Given the description of an element on the screen output the (x, y) to click on. 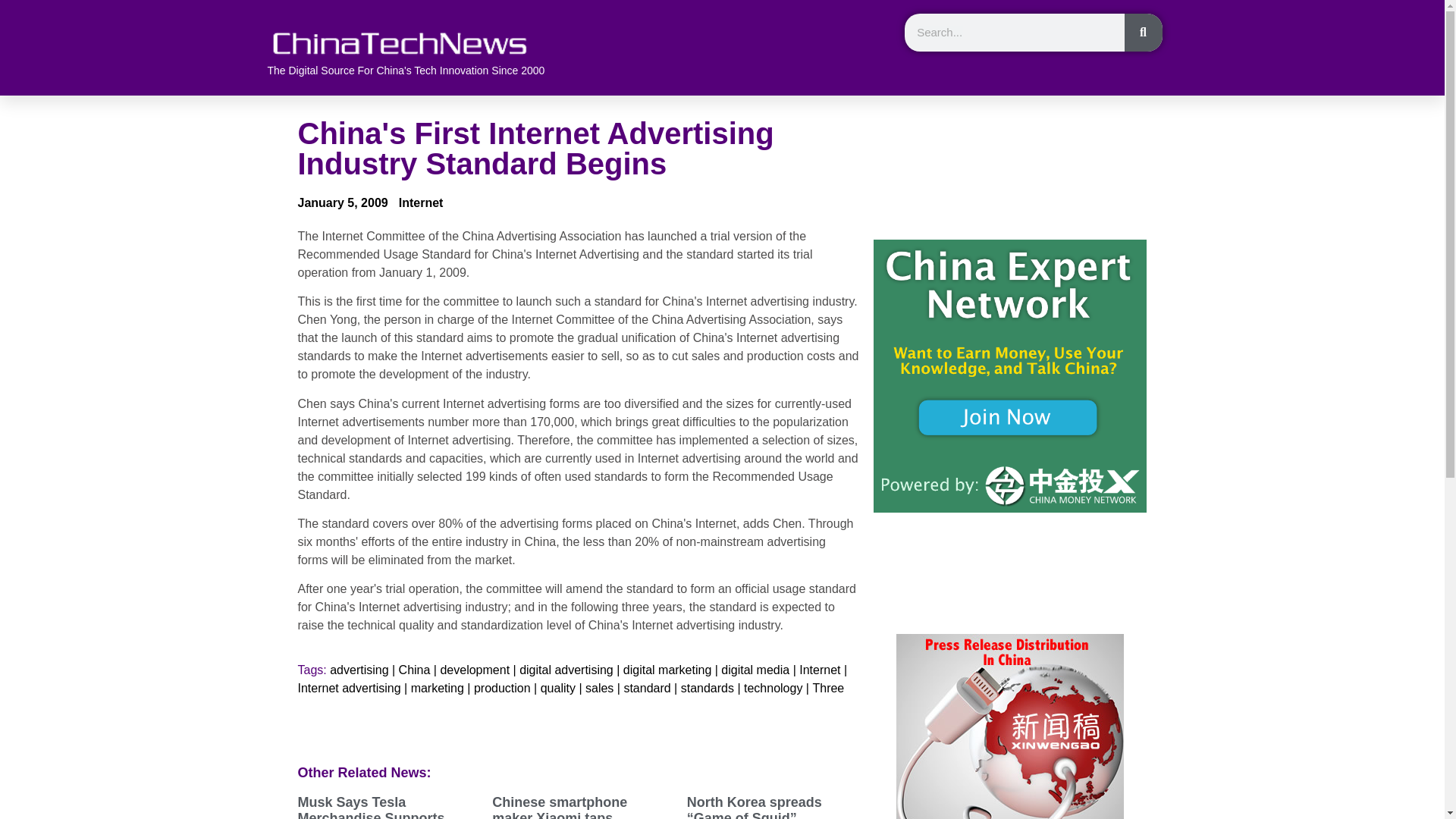
4:06 PM (342, 202)
advertising (359, 669)
Internet (421, 203)
digital media (754, 669)
digital marketing (667, 669)
China (414, 669)
Internet (819, 669)
standards (707, 688)
marketing (437, 688)
standard (646, 688)
